Given the description of an element on the screen output the (x, y) to click on. 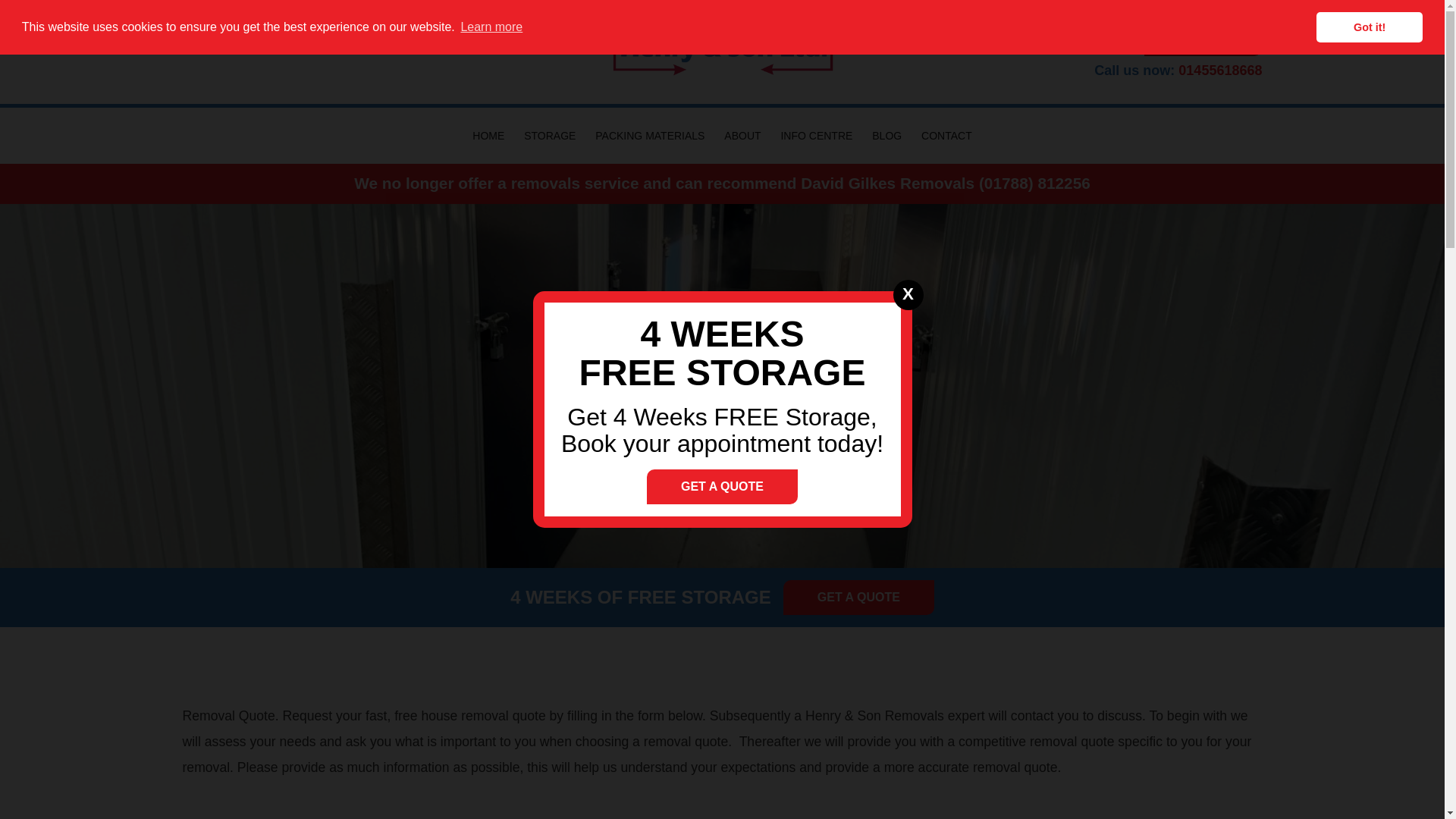
Call us now: 01455618668 (1090, 69)
CONTACT (945, 135)
GET A QUOTE (1203, 43)
INFO CENTRE (815, 135)
Learn more (491, 26)
PACKING MATERIALS (649, 135)
BLOG (886, 135)
GET A QUOTE (1203, 43)
Got it! (1369, 27)
HOME (488, 135)
GET A QUOTE (858, 597)
Call us now: 01455618668 (1090, 69)
ABOUT (742, 135)
GET A QUOTE (721, 486)
Get a Quote (858, 597)
